Given the description of an element on the screen output the (x, y) to click on. 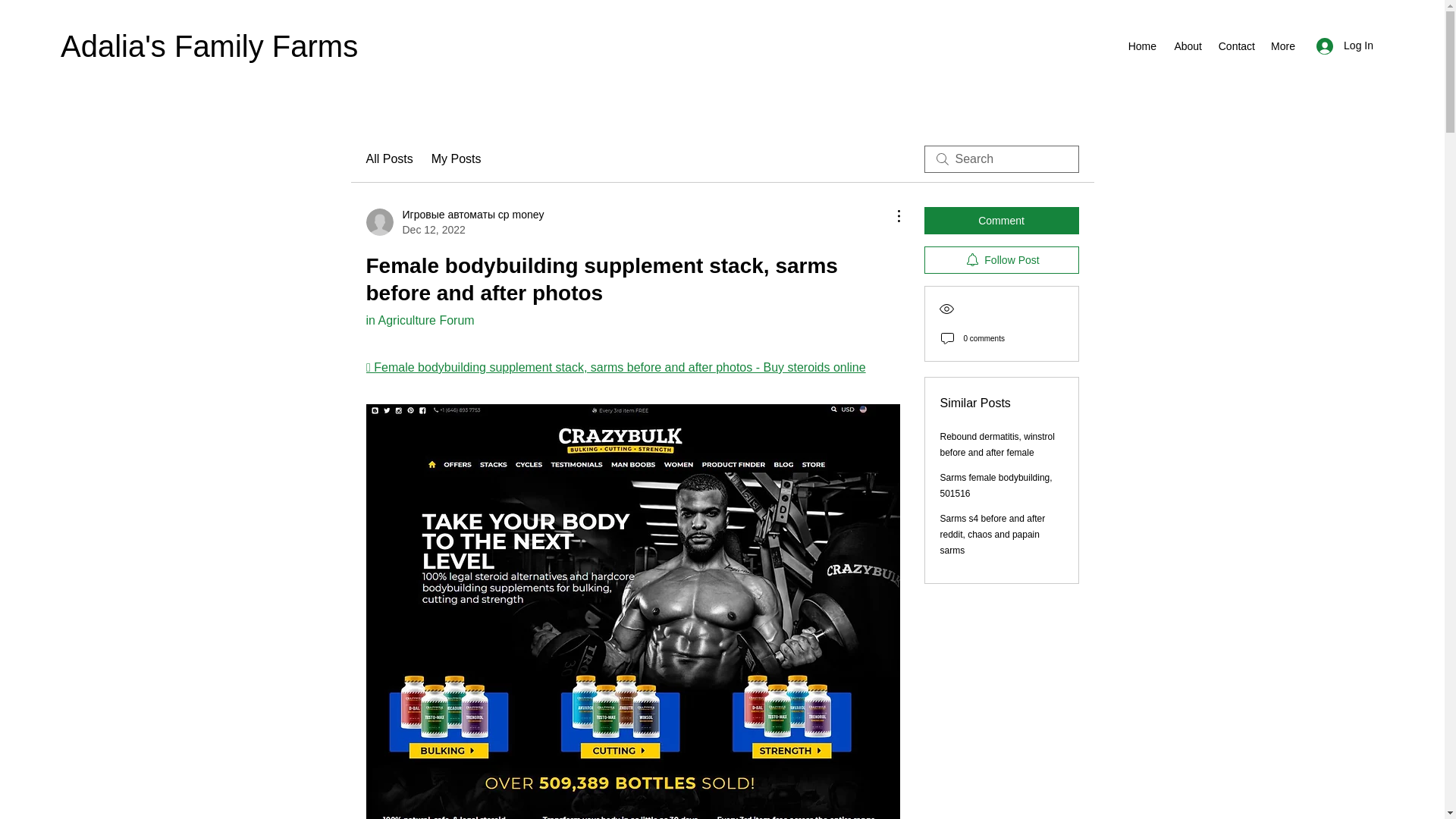
Adalia's Family Farms (209, 46)
About (1186, 46)
in Agriculture Forum (419, 319)
Contact (1235, 46)
Comment (1000, 220)
All Posts (388, 158)
Sarms s4 before and after reddit, chaos and papain sarms (992, 534)
Follow Post (1000, 259)
My Posts (455, 158)
Log In (1345, 45)
